Given the description of an element on the screen output the (x, y) to click on. 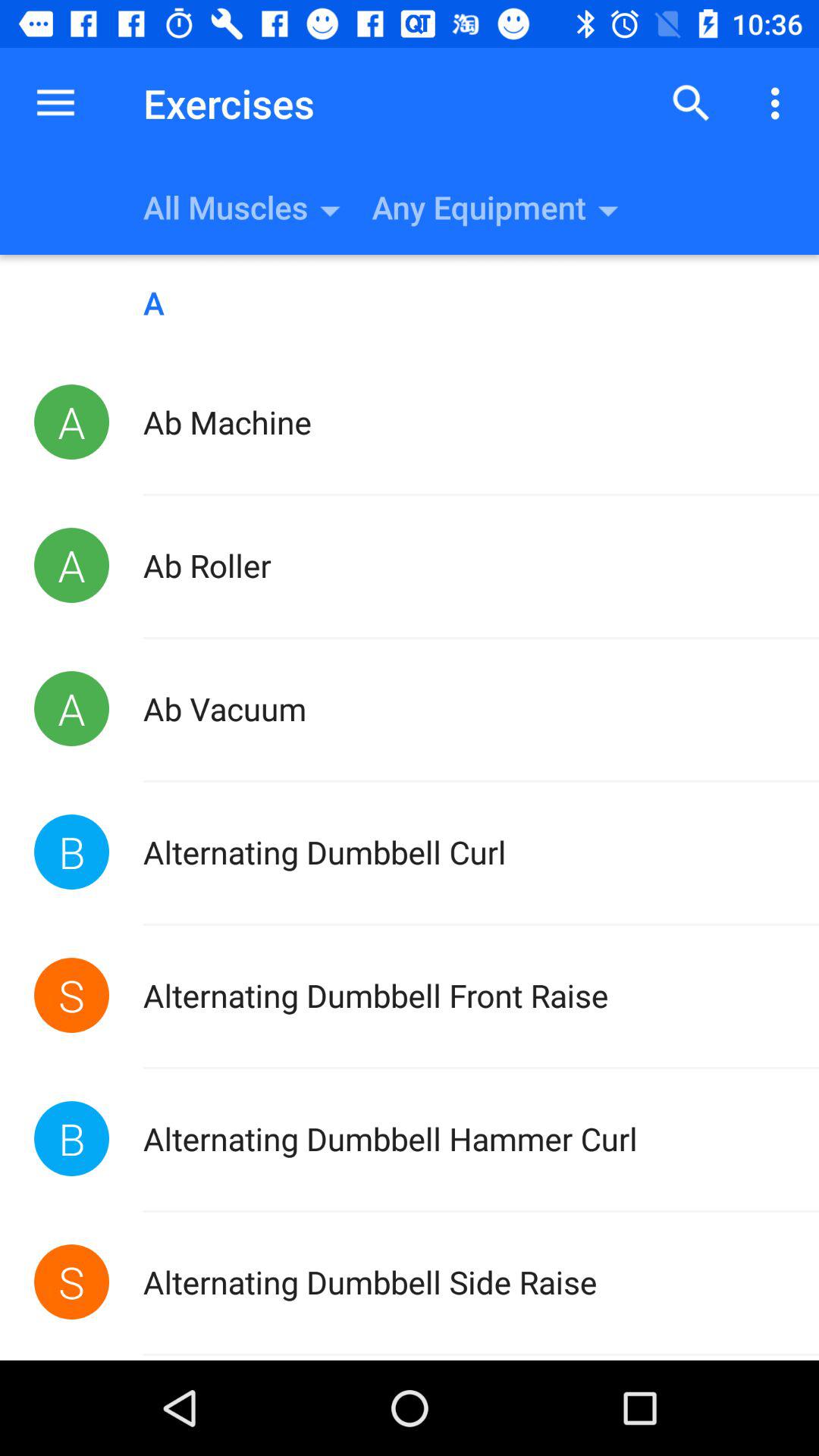
select the icon above the a icon (779, 103)
